Given the description of an element on the screen output the (x, y) to click on. 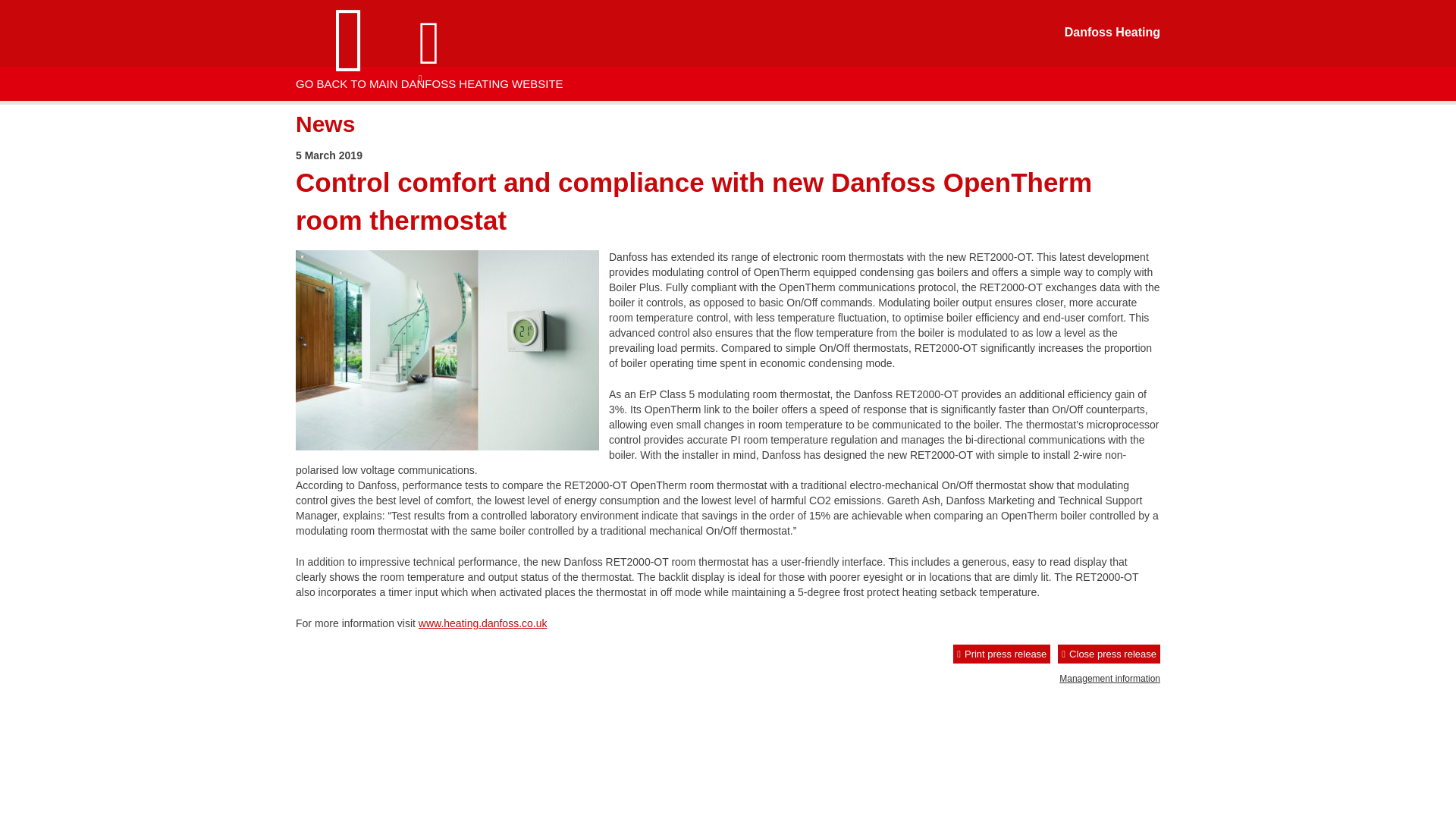
Close press release (1109, 653)
www.heating.danfoss.co.uk (483, 623)
Print press release (1001, 653)
GO BACK TO MAIN DANFOSS HEATING WEBSITE (438, 83)
Management information (1109, 678)
